Given the description of an element on the screen output the (x, y) to click on. 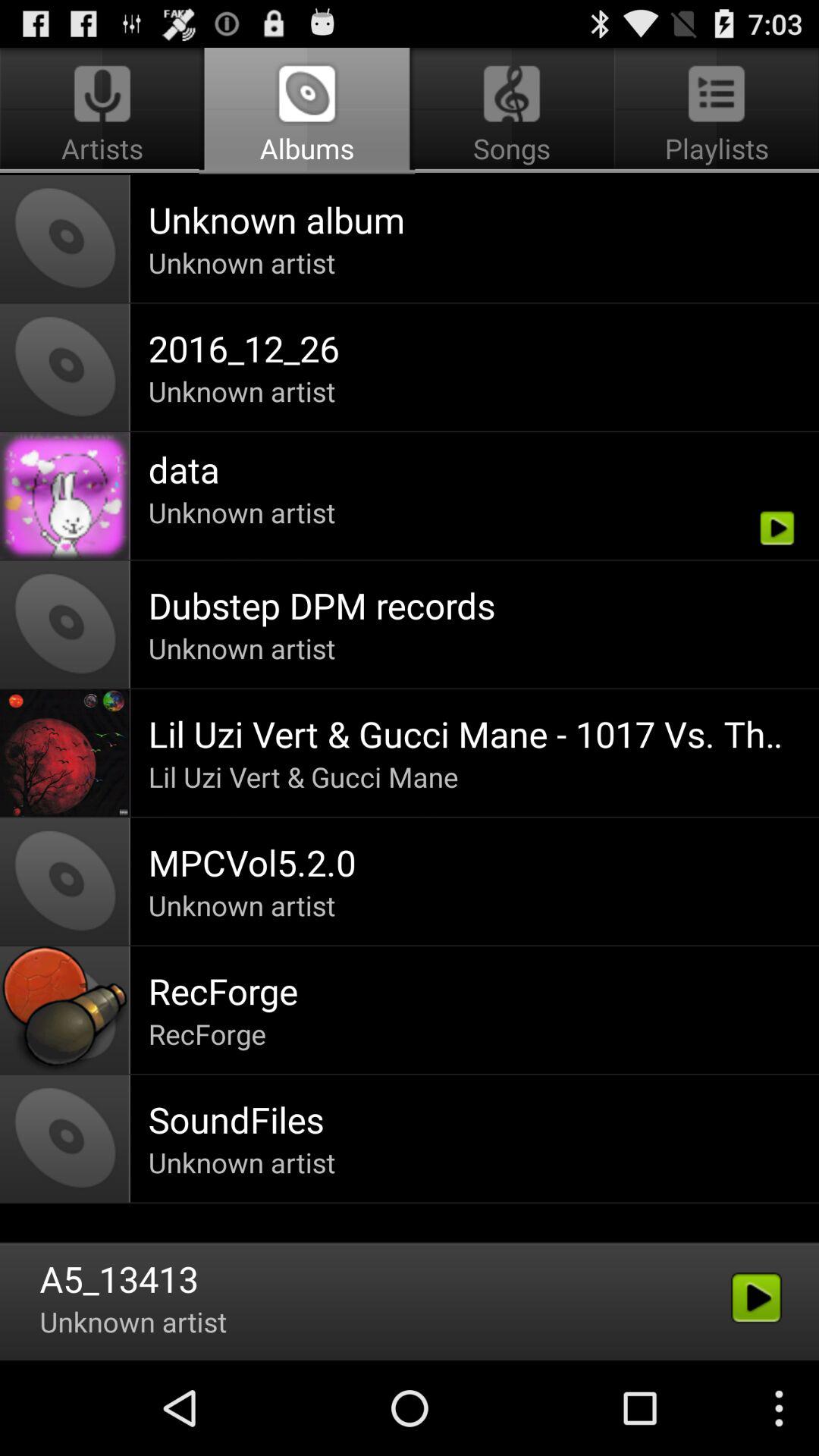
click the 1st play button on the web page (777, 528)
click the play button above the three dots button on the web page (756, 1298)
